Given the description of an element on the screen output the (x, y) to click on. 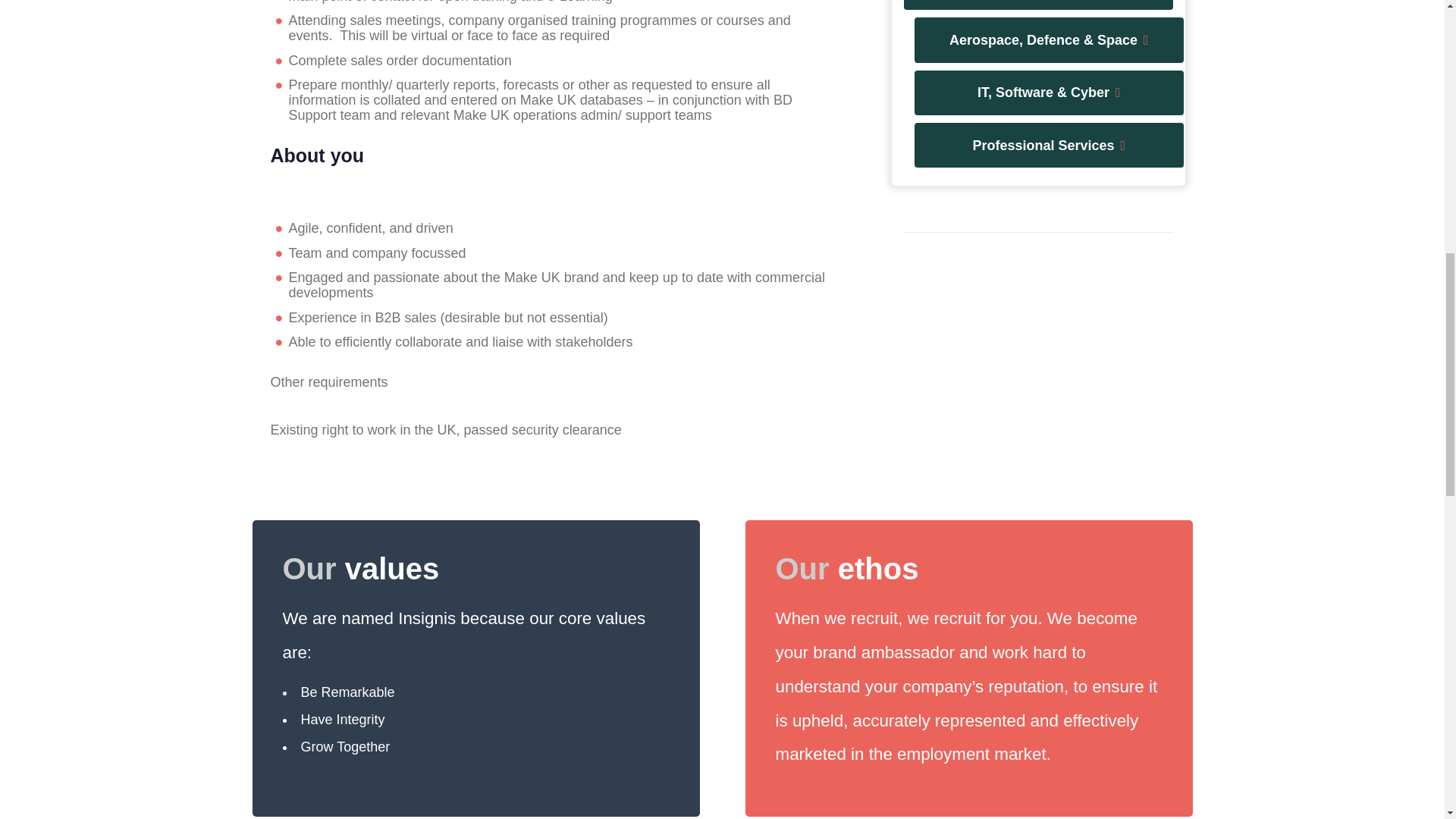
Professional Services (1048, 144)
